Given the description of an element on the screen output the (x, y) to click on. 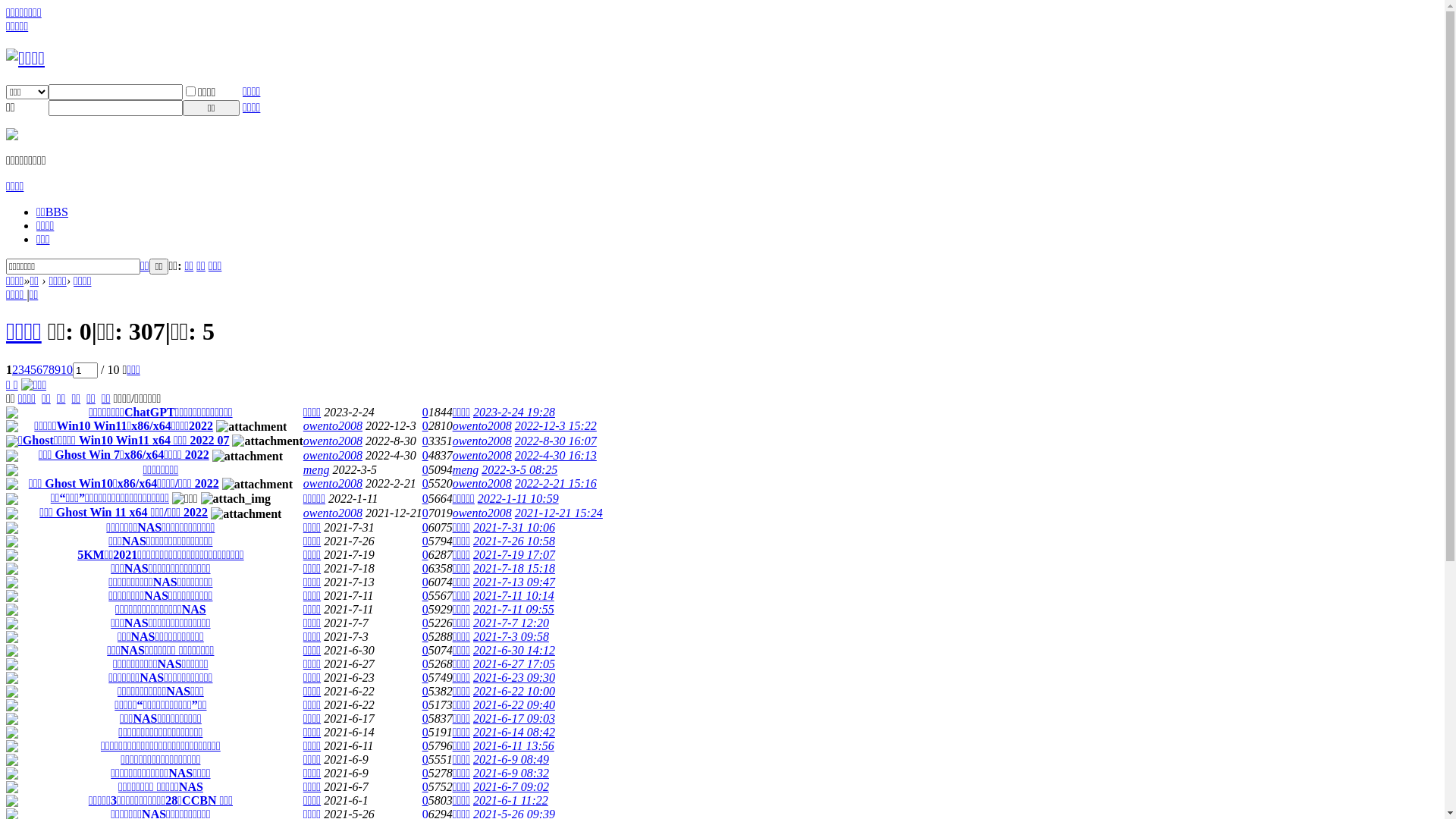
0 Element type: text (425, 482)
0 Element type: text (425, 704)
0 Element type: text (425, 677)
9 Element type: text (57, 369)
owento2008 Element type: text (332, 454)
2022-2-21 15:16 Element type: text (555, 482)
owento2008 Element type: text (481, 512)
0 Element type: text (425, 440)
0 Element type: text (425, 731)
7 Element type: text (45, 369)
0 Element type: text (425, 540)
2021-7-3 09:58 Element type: text (511, 636)
0 Element type: text (425, 608)
0 Element type: text (425, 718)
2021-6-30 14:12 Element type: text (514, 649)
meng Element type: text (465, 469)
2021-7-11 10:14 Element type: text (513, 595)
owento2008 Element type: text (332, 425)
2021-7-18 15:18 Element type: text (514, 567)
3 Element type: text (21, 369)
0 Element type: text (425, 425)
0 Element type: text (425, 498)
2021-6-11 13:56 Element type: text (513, 745)
meng Element type: text (316, 469)
2022-4-30 16:13 Element type: text (555, 454)
0 Element type: text (425, 636)
2021-6-22 10:00 Element type: text (514, 690)
2021-6-7 09:02 Element type: text (511, 786)
0 Element type: text (425, 469)
2021-6-23 09:30 Element type: text (514, 677)
2021-6-14 08:42 Element type: text (514, 731)
2021-7-31 10:06 Element type: text (514, 526)
6 Element type: text (39, 369)
owento2008 Element type: text (481, 454)
8 Element type: text (51, 369)
owento2008 Element type: text (332, 440)
2021-7-19 17:07 Element type: text (514, 554)
2022-1-11 10:59 Element type: text (517, 498)
2021-6-17 09:03 Element type: text (514, 718)
owento2008 Element type: text (332, 482)
owento2008 Element type: text (481, 425)
0 Element type: text (425, 454)
2021-6-9 08:49 Element type: text (511, 759)
0 Element type: text (425, 526)
2021-6-27 17:05 Element type: text (514, 663)
2021-7-26 10:58 Element type: text (514, 540)
0 Element type: text (425, 786)
0 Element type: text (425, 554)
2021-7-11 09:55 Element type: text (513, 608)
2021-6-22 09:40 Element type: text (514, 704)
owento2008 Element type: text (481, 440)
0 Element type: text (425, 759)
2 Element type: text (15, 369)
2022-12-3 15:22 Element type: text (555, 425)
0 Element type: text (425, 411)
0 Element type: text (425, 690)
0 Element type: text (425, 663)
0 Element type: text (425, 649)
10 Element type: text (66, 369)
owento2008 Element type: text (332, 512)
0 Element type: text (425, 745)
0 Element type: text (425, 567)
2022-3-5 08:25 Element type: text (519, 469)
0 Element type: text (425, 799)
0 Element type: text (425, 772)
2021-7-7 12:20 Element type: text (511, 622)
0 Element type: text (425, 581)
0 Element type: text (425, 512)
4 Element type: text (27, 369)
2022-8-30 16:07 Element type: text (555, 440)
2021-6-1 11:22 Element type: text (510, 799)
5 Element type: text (33, 369)
2021-7-13 09:47 Element type: text (514, 581)
0 Element type: text (425, 595)
0 Element type: text (425, 622)
owento2008 Element type: text (481, 482)
2021-6-9 08:32 Element type: text (511, 772)
2023-2-24 19:28 Element type: text (514, 411)
2021-12-21 15:24 Element type: text (558, 512)
